Given the description of an element on the screen output the (x, y) to click on. 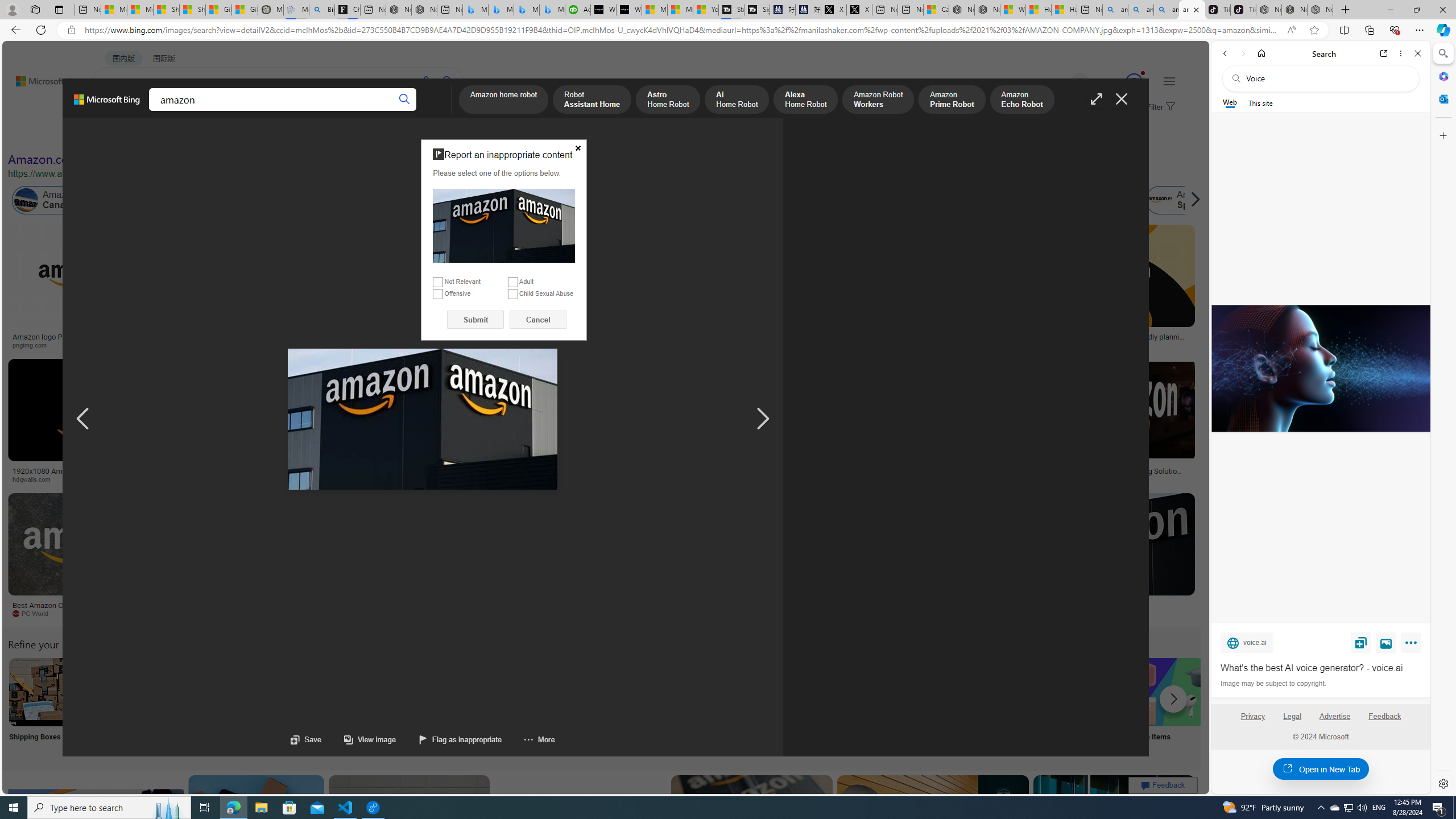
Search button (404, 99)
Layout (252, 135)
People (295, 135)
Web scope (1230, 102)
pngimg.com (76, 344)
Color (173, 135)
Amazon Sale Items Sale Items (1169, 706)
ACADEMIC (311, 111)
Amazon.com.au (881, 200)
Date (336, 135)
DICT (357, 111)
Layout (253, 135)
